Given the description of an element on the screen output the (x, y) to click on. 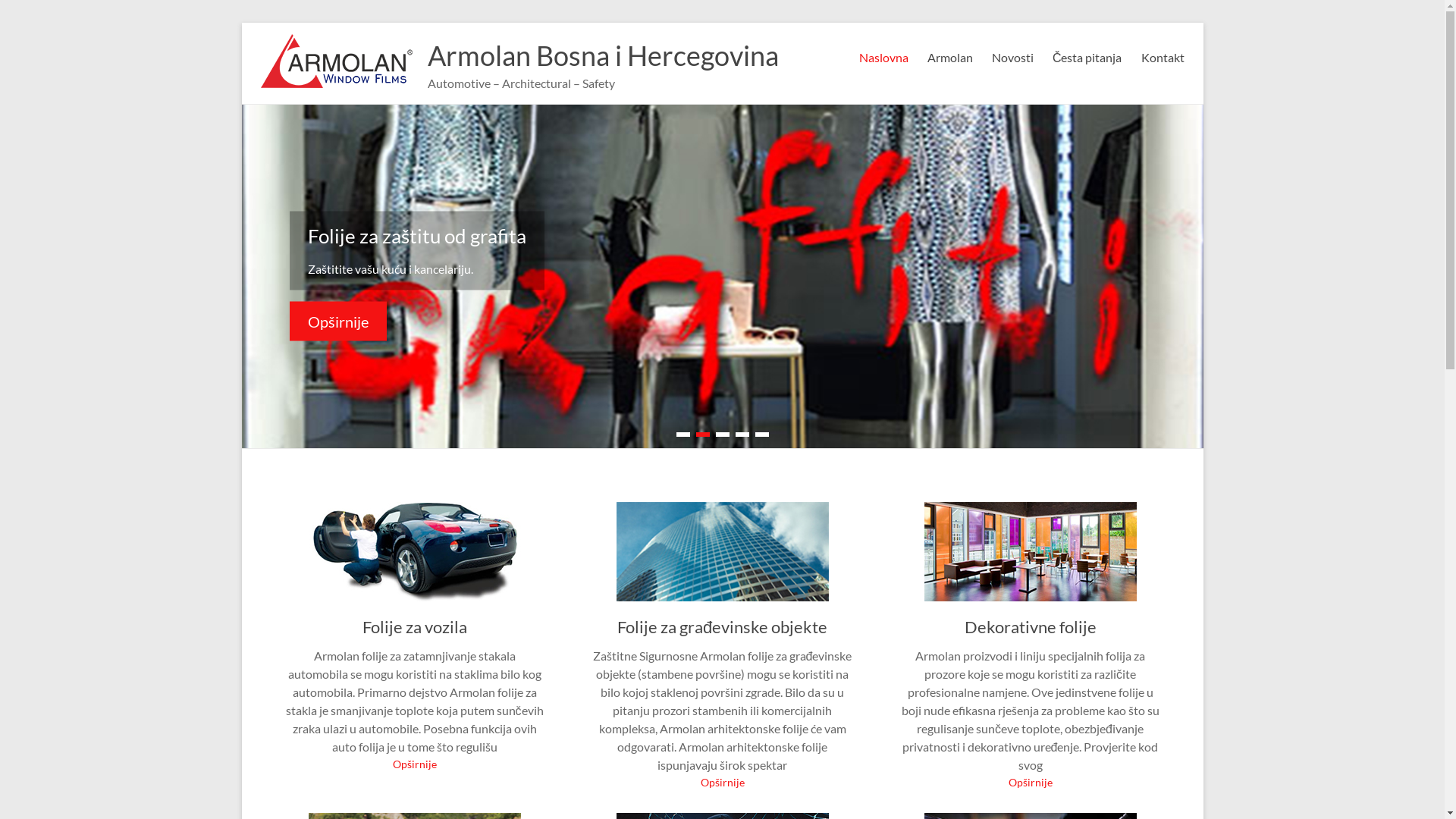
Armolan Bosna i Hercegovina Element type: text (602, 55)
Naslovna Element type: text (883, 54)
Armolan Bosna i Hercegovina Element type: hover (336, 41)
Novosti Element type: text (1012, 54)
Armolan Element type: text (949, 54)
Dekorativne folije Element type: text (1030, 626)
Folije za vozila Element type: text (414, 626)
Kontakt Element type: text (1161, 54)
